Given the description of an element on the screen output the (x, y) to click on. 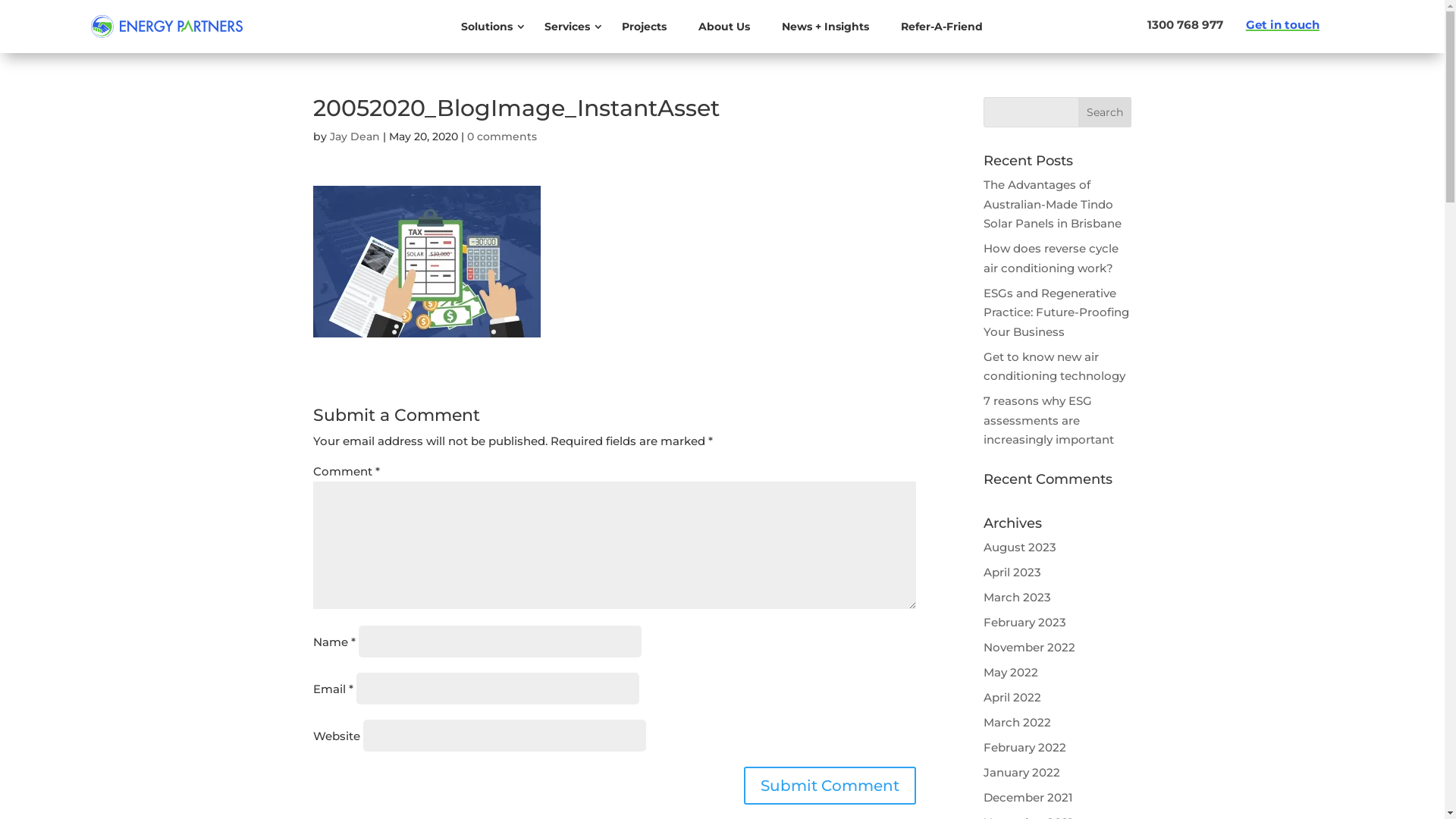
December 2021 Element type: text (1028, 797)
Refer-A-Friend Element type: text (941, 26)
Search Element type: text (1104, 112)
Services Element type: text (566, 26)
April 2022 Element type: text (1012, 697)
Projects Element type: text (644, 26)
February 2023 Element type: text (1024, 621)
Get to know new air conditioning technology Element type: text (1054, 365)
ep-logo_300px Element type: hover (166, 26)
How does reverse cycle air conditioning work? Element type: text (1050, 258)
February 2022 Element type: text (1024, 747)
Solutions Element type: text (486, 26)
Jay Dean Element type: text (354, 136)
News + Insights Element type: text (825, 26)
7 reasons why ESG assessments are increasingly important Element type: text (1048, 419)
0 comments Element type: text (501, 136)
About Us Element type: text (723, 26)
March 2022 Element type: text (1017, 721)
March 2023 Element type: text (1017, 596)
April 2023 Element type: text (1012, 571)
November 2022 Element type: text (1029, 647)
Submit Comment Element type: text (829, 785)
January 2022 Element type: text (1021, 771)
August 2023 Element type: text (1019, 546)
May 2022 Element type: text (1010, 671)
